Given the description of an element on the screen output the (x, y) to click on. 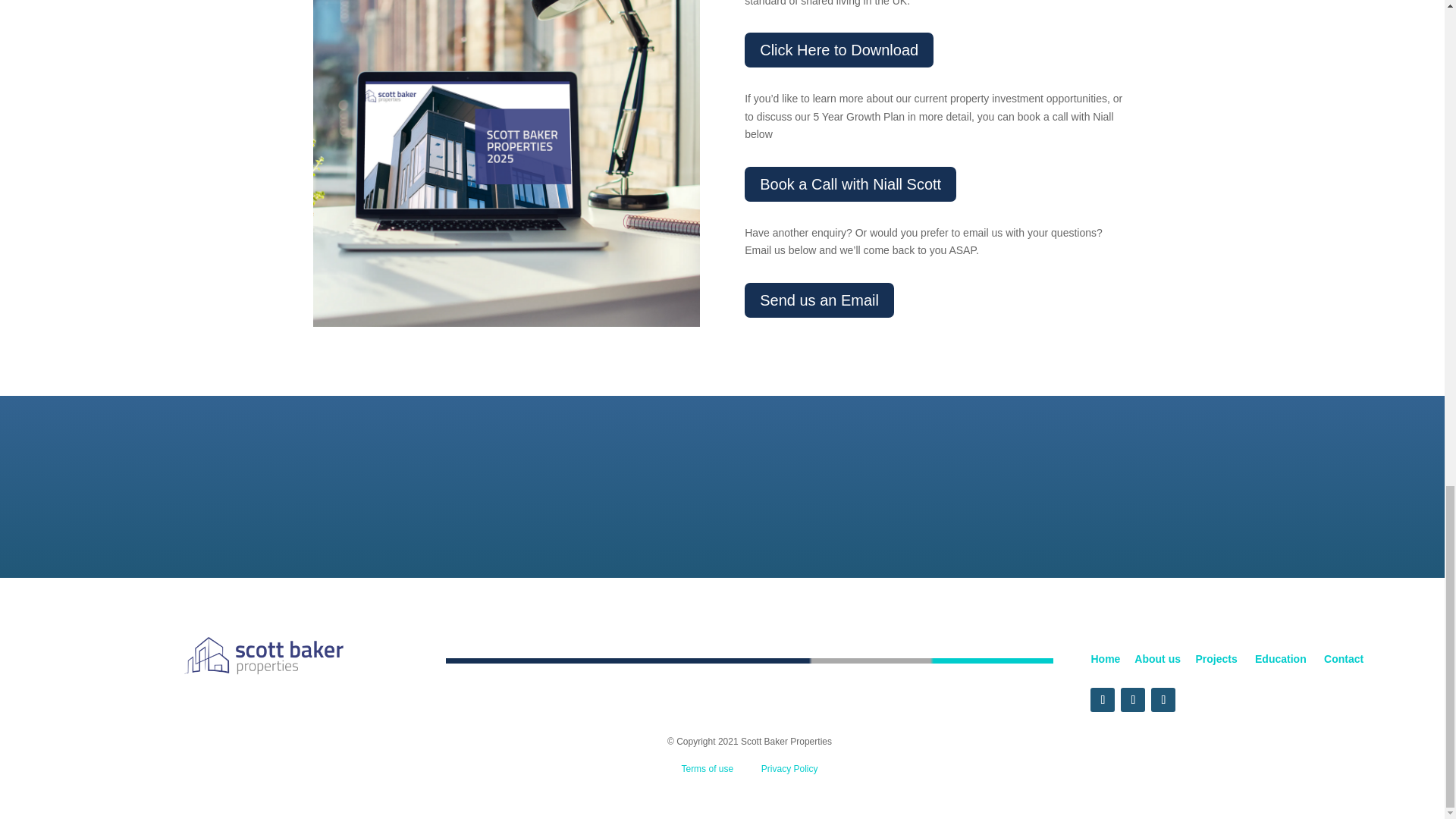
Send us an Email (818, 299)
  Contact (1339, 658)
Terms of use (707, 768)
Follow on LinkedIn (1132, 699)
Home (1104, 658)
 Education (1279, 658)
Follow on Facebook (1102, 699)
Book a Call with Niall Scott (850, 184)
About us (1157, 658)
Projects    (1220, 658)
Follow on Instagram (1162, 699)
Click Here to Download (838, 49)
Privacy Policy (789, 768)
